Given the description of an element on the screen output the (x, y) to click on. 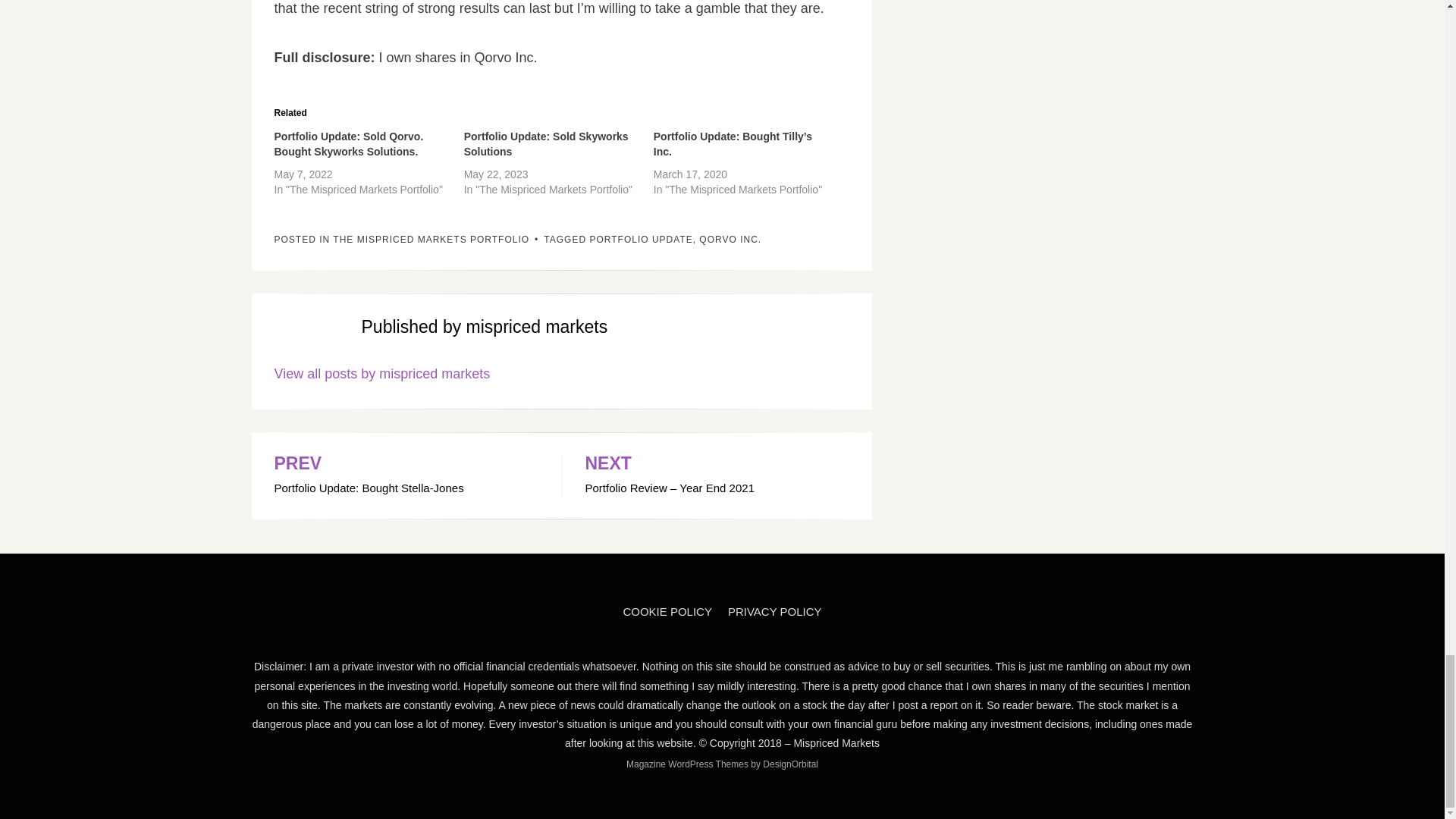
Magazine WordPress Themes (687, 764)
PRIVACY POLICY (775, 611)
QORVO INC. (729, 239)
View all posts by mispriced markets (382, 373)
Portfolio Update: Sold Skyworks Solutions (546, 144)
PORTFOLIO UPDATE (641, 239)
Portfolio Update: Sold Qorvo. Bought Skyworks Solutions. (406, 476)
COOKIE POLICY (349, 144)
THE MISPRICED MARKETS PORTFOLIO (666, 611)
Portfolio Update: Sold Qorvo. Bought Skyworks Solutions. (431, 239)
Mispriced Markets (349, 144)
Magazine WordPress Themes (836, 743)
Portfolio Update: Sold Skyworks Solutions (687, 764)
